Given the description of an element on the screen output the (x, y) to click on. 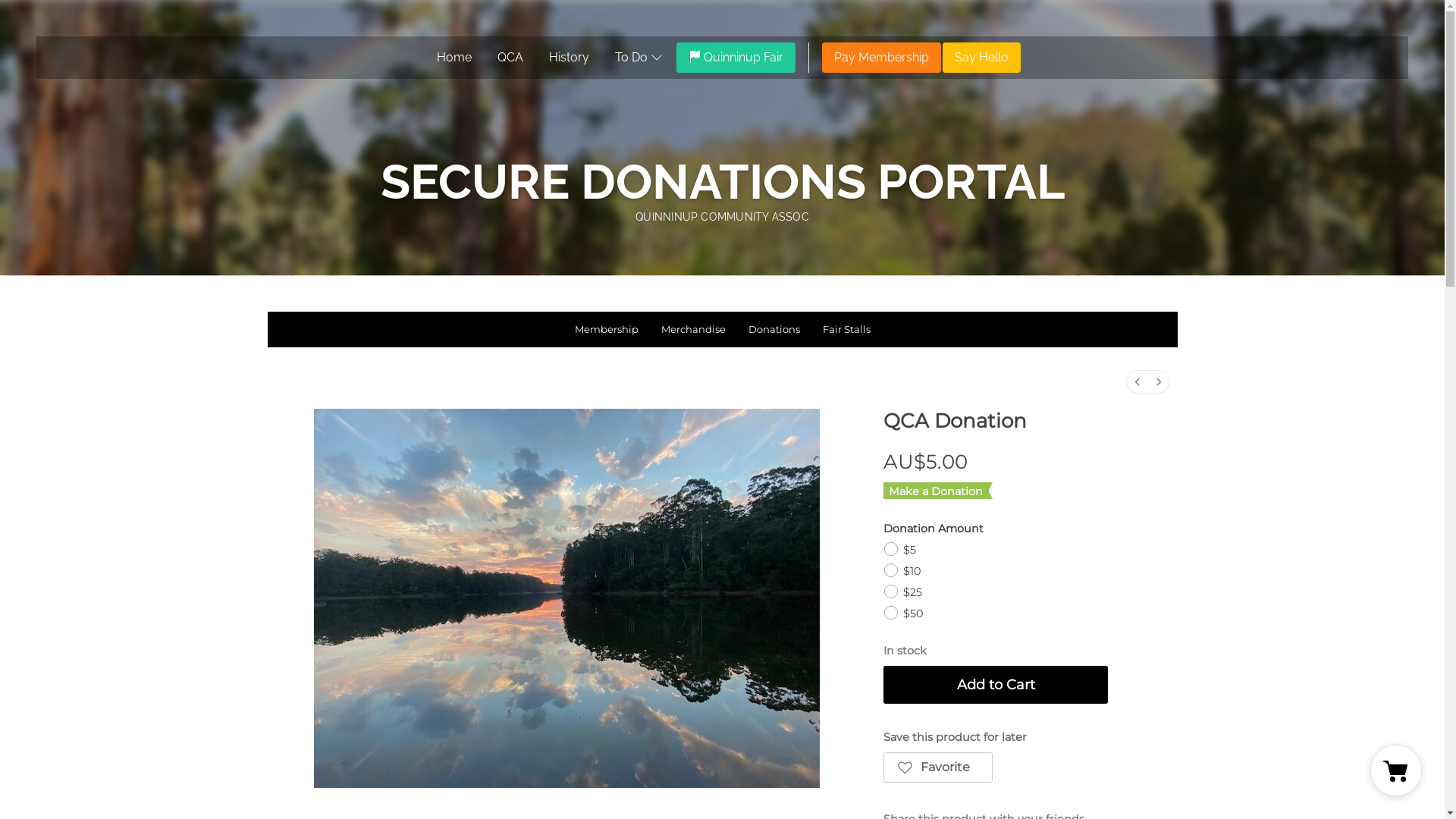
History Element type: text (568, 57)
QCA Element type: text (510, 57)
Add to Cart Element type: text (995, 684)
Say Hello Element type: text (980, 57)
Merchandise Element type: text (692, 329)
Pay Membership Element type: text (881, 57)
Favorite Element type: text (937, 767)
Donations Element type: text (774, 329)
QCA Donation Element type: hover (566, 597)
Home Element type: text (453, 57)
To Do Element type: text (638, 57)
Fair Stalls Element type: text (846, 329)
Membership Element type: text (605, 329)
Quinninup Fair Element type: text (735, 57)
